Given the description of an element on the screen output the (x, y) to click on. 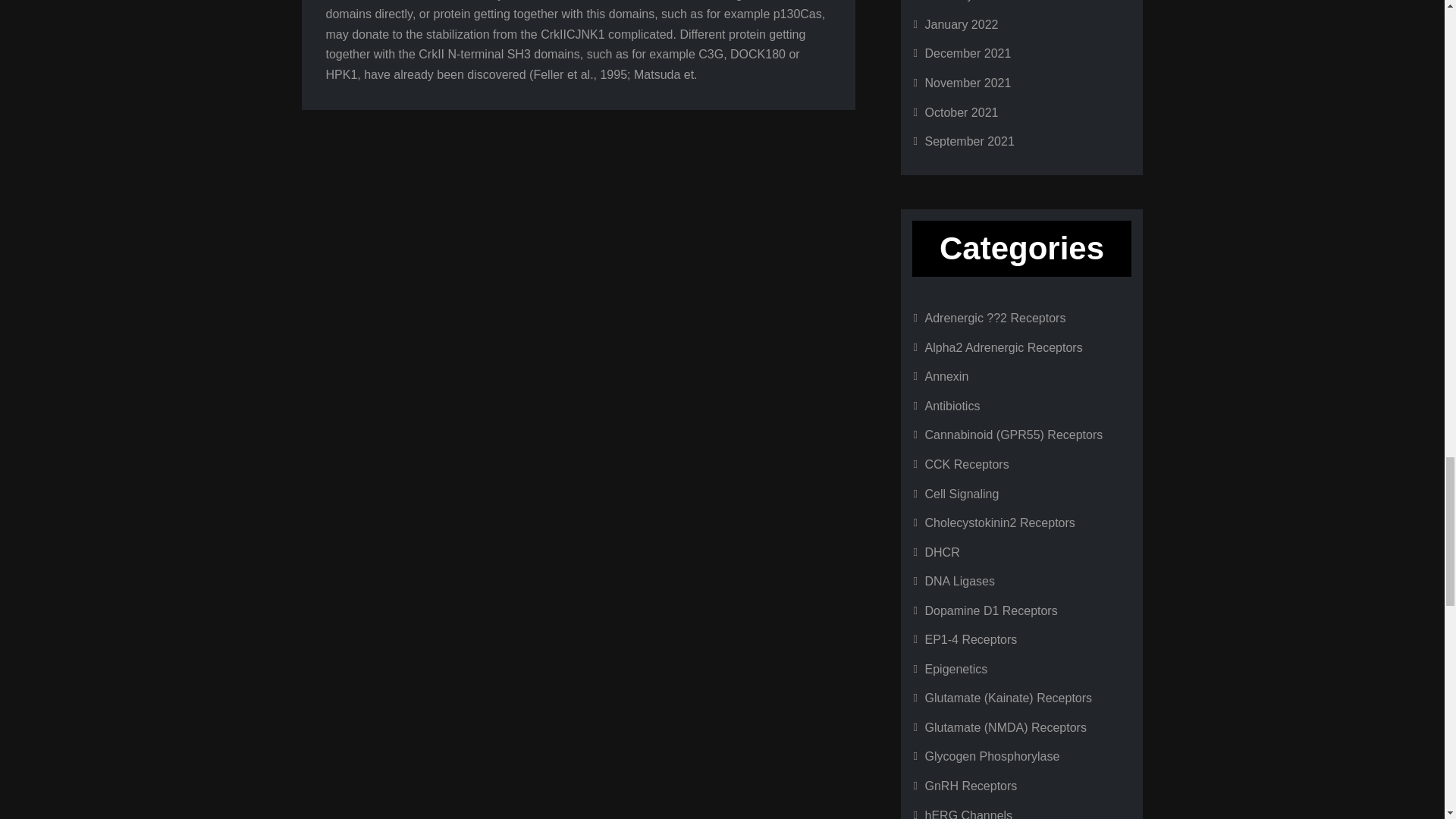
September 2021 (969, 141)
February 2022 (964, 0)
November 2021 (967, 82)
Adrenergic ??2 Receptors (994, 318)
January 2022 (961, 24)
December 2021 (967, 52)
October 2021 (961, 112)
Alpha2 Adrenergic Receptors (1003, 347)
